Given the description of an element on the screen output the (x, y) to click on. 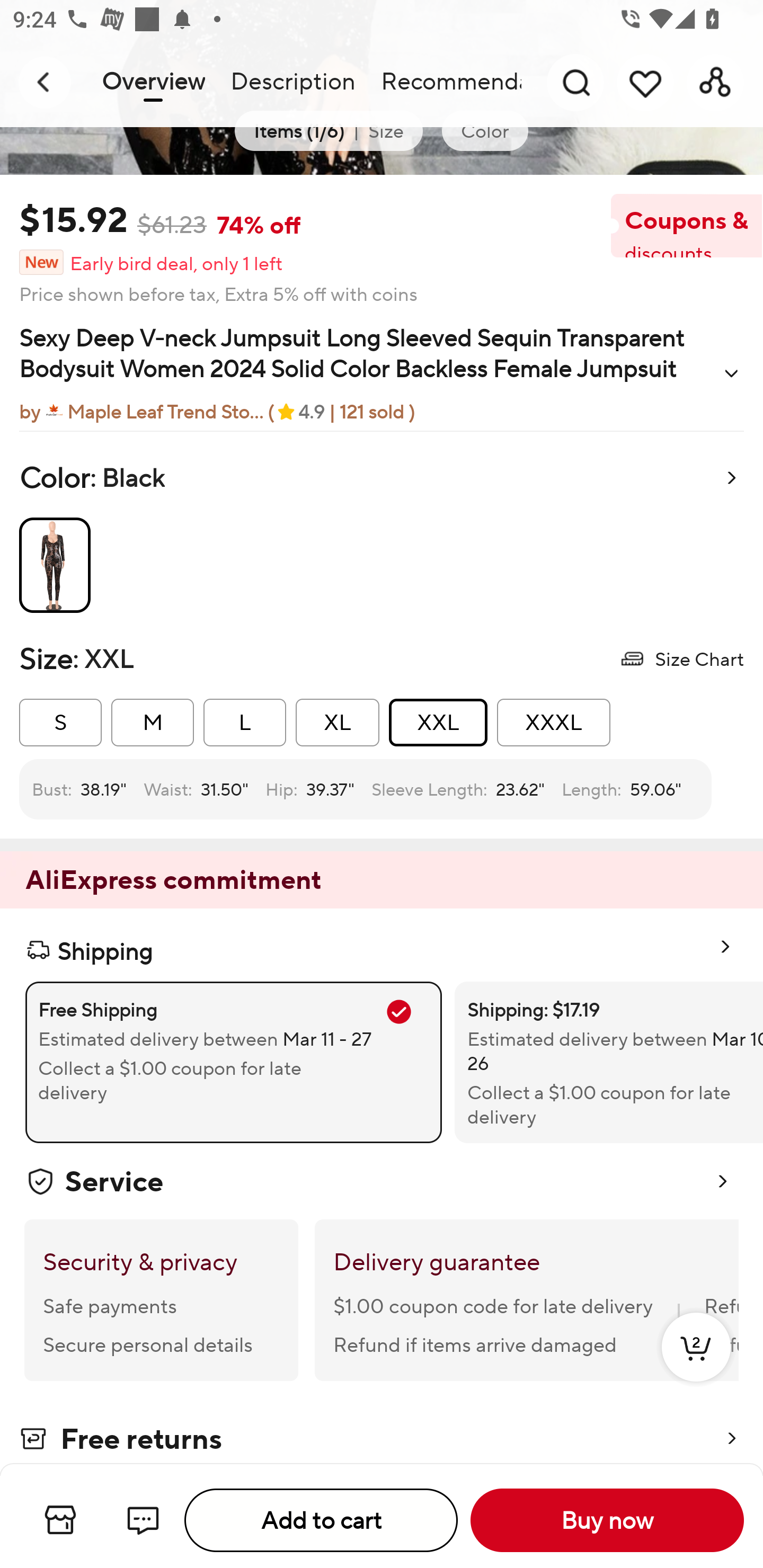
Navigate up (44, 82)
Description (292, 81)
Recommendations (444, 81)
Items (1/6) (299, 130)
Size (385, 130)
Color (484, 130)
 (730, 372)
Size Chart (680, 658)
S (60, 722)
M (152, 722)
L (244, 722)
XL (337, 722)
XXL (438, 722)
XXXL (553, 722)
2 (695, 1366)
Free returns  (381, 1439)
Add to cart (320, 1520)
Buy now (606, 1520)
